Given the description of an element on the screen output the (x, y) to click on. 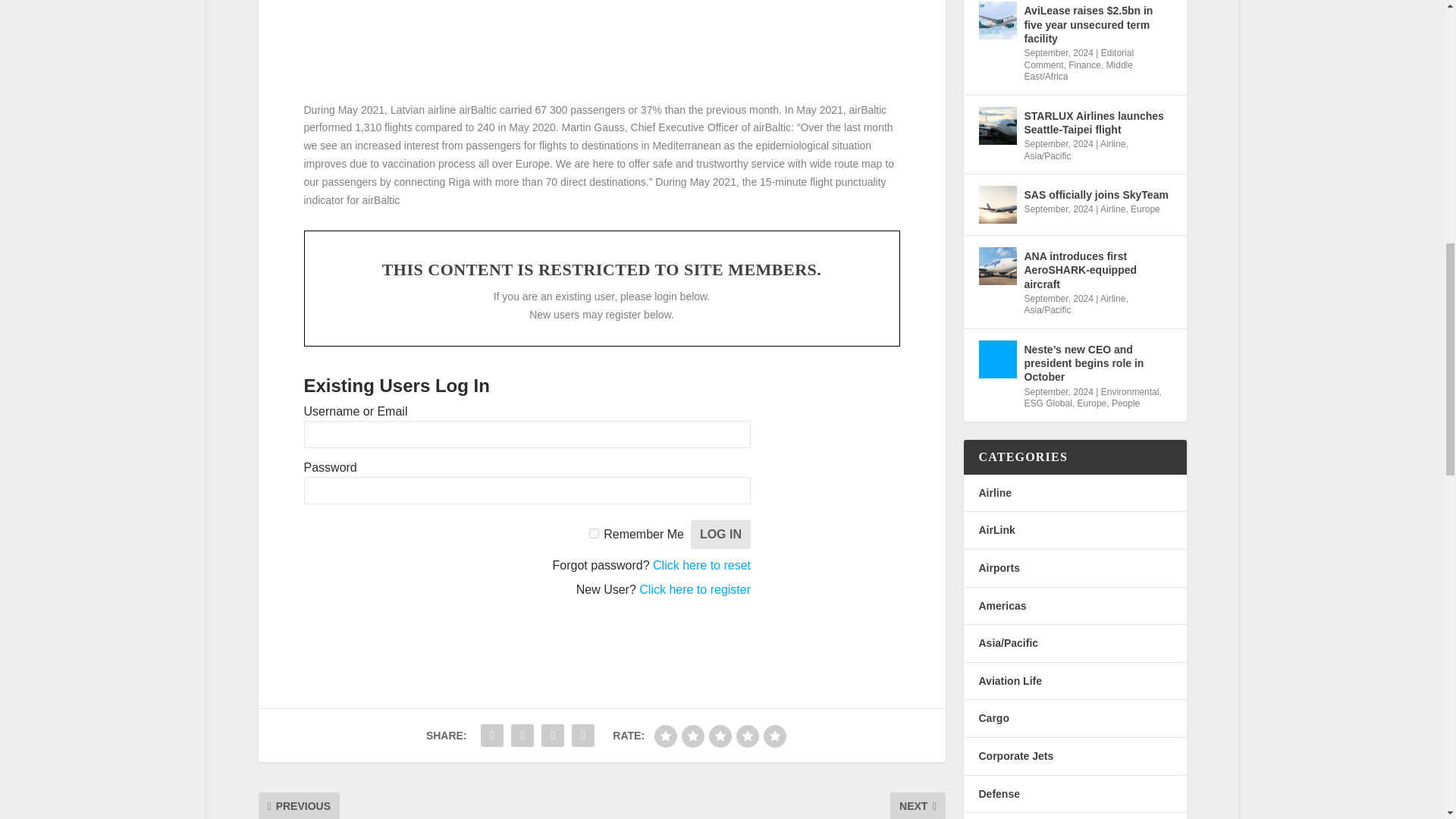
Log In (720, 534)
bad (665, 735)
Share "airBaltic traffic improves in May" via Twitter (491, 735)
gorgeous (774, 735)
regular (720, 735)
good (747, 735)
Share "airBaltic traffic improves in May" via LinkedIn (521, 735)
Share "airBaltic traffic improves in May" via Email (552, 735)
poor (692, 735)
Share "airBaltic traffic improves in May" via Print (582, 735)
